Given the description of an element on the screen output the (x, y) to click on. 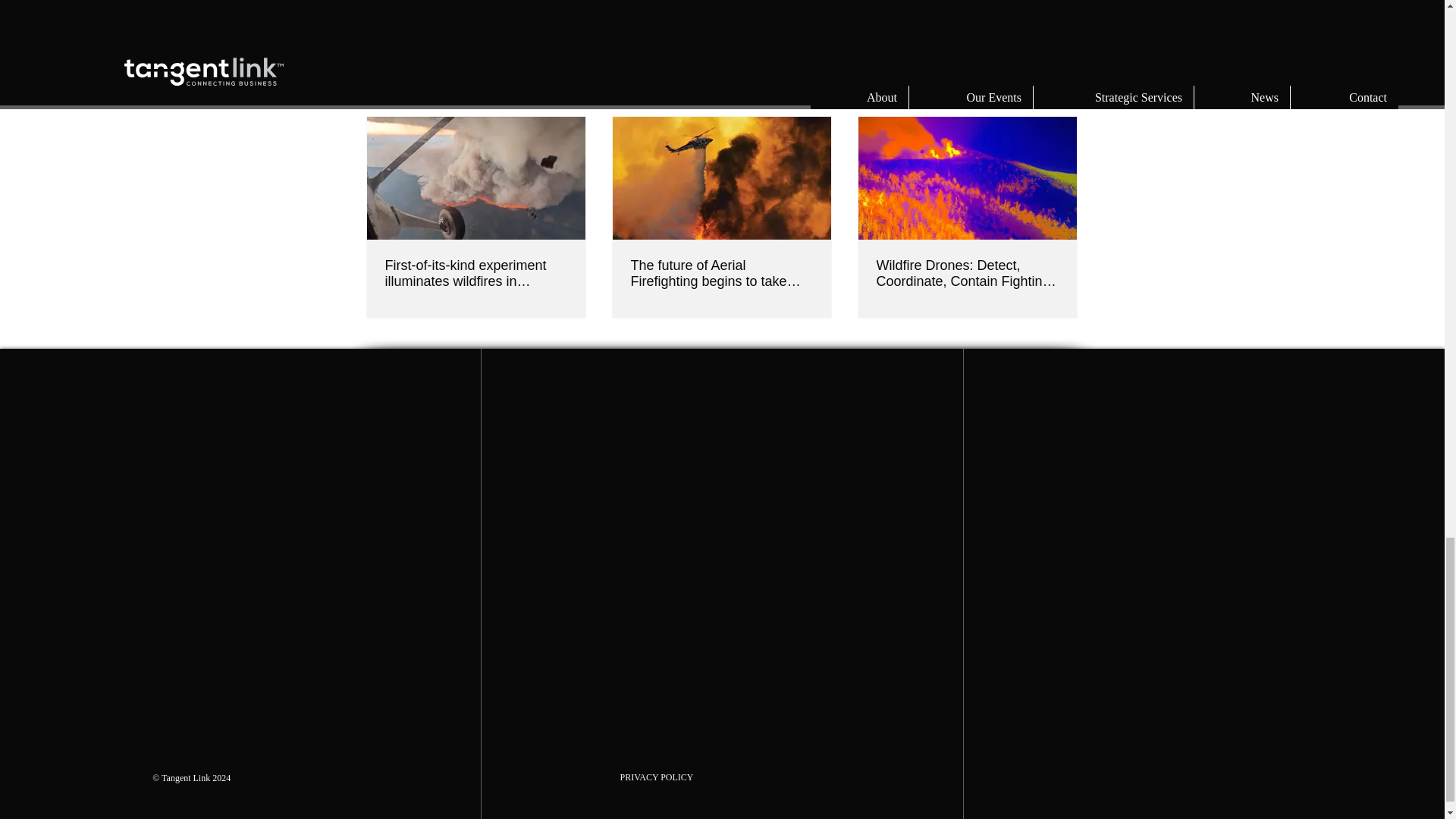
The future of Aerial Firefighting begins to take shape (721, 273)
See All (1061, 89)
